Given the description of an element on the screen output the (x, y) to click on. 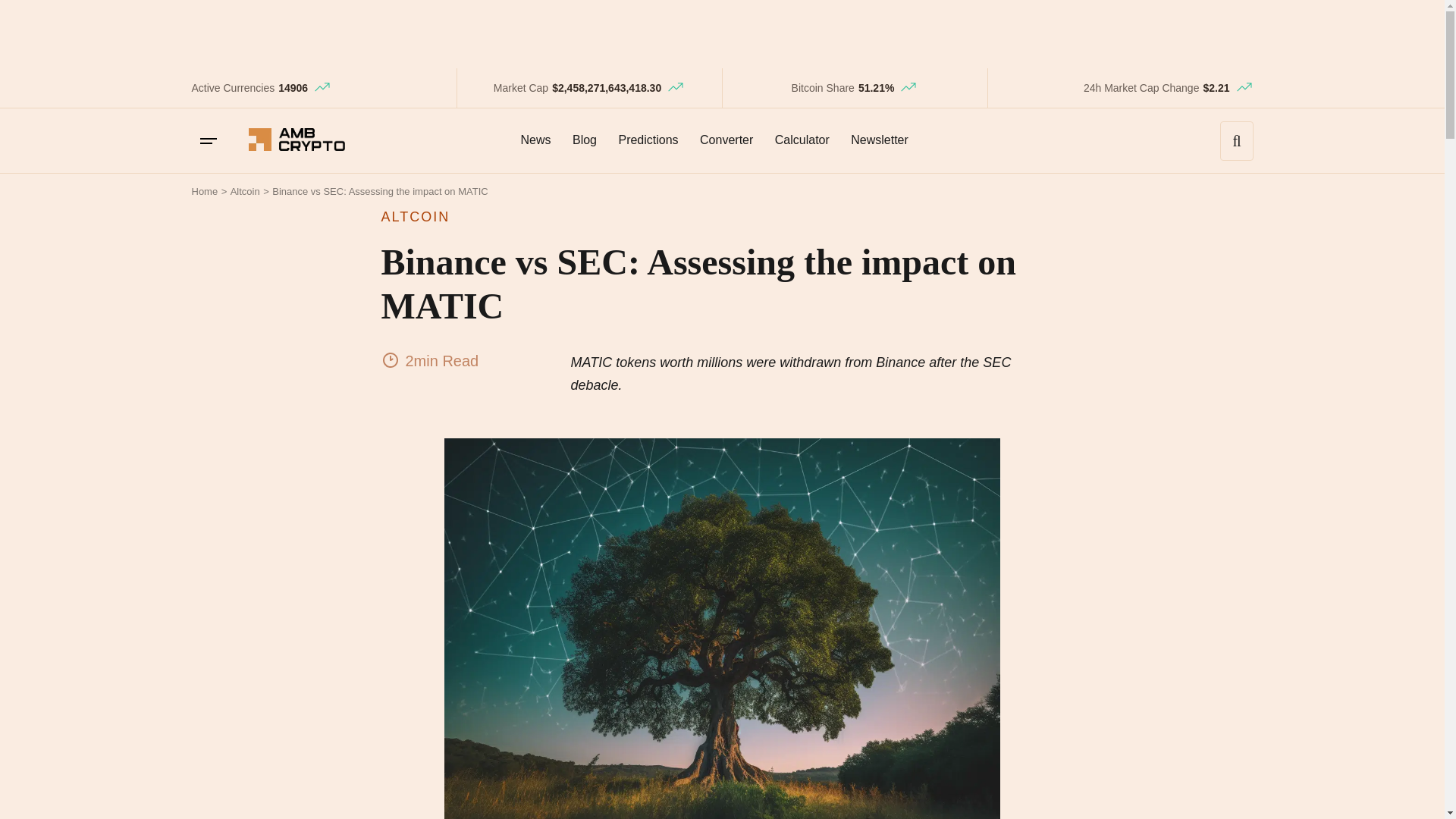
Altcoin (245, 191)
ALTCOIN (721, 216)
Predictions (647, 139)
Home (203, 191)
Home (203, 191)
Calculator (801, 139)
News (535, 139)
Blog (584, 139)
Altcoin (245, 191)
Converter (725, 139)
Newsletter (879, 139)
